Given the description of an element on the screen output the (x, y) to click on. 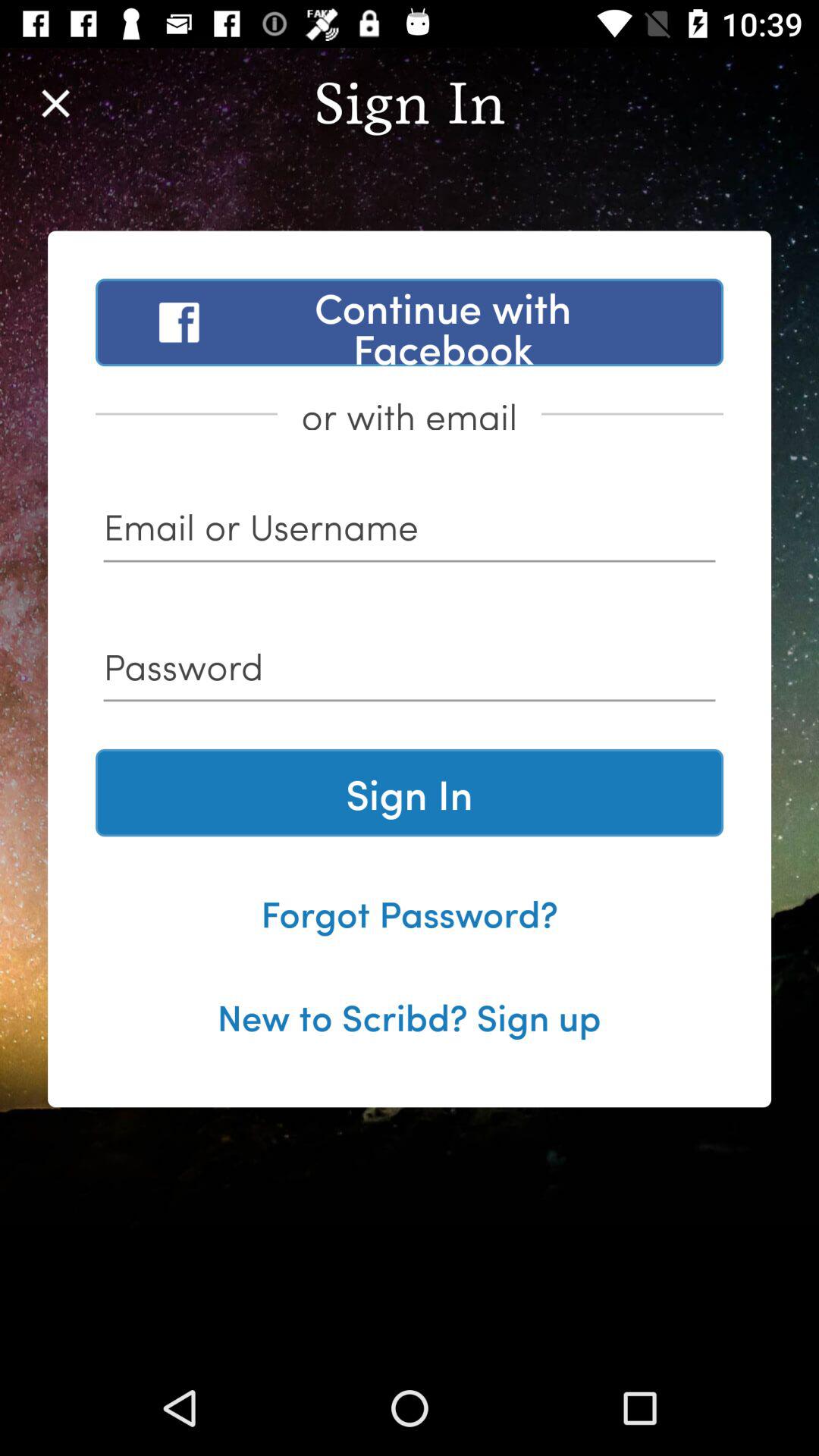
choose the continue with facebook item (409, 322)
